Given the description of an element on the screen output the (x, y) to click on. 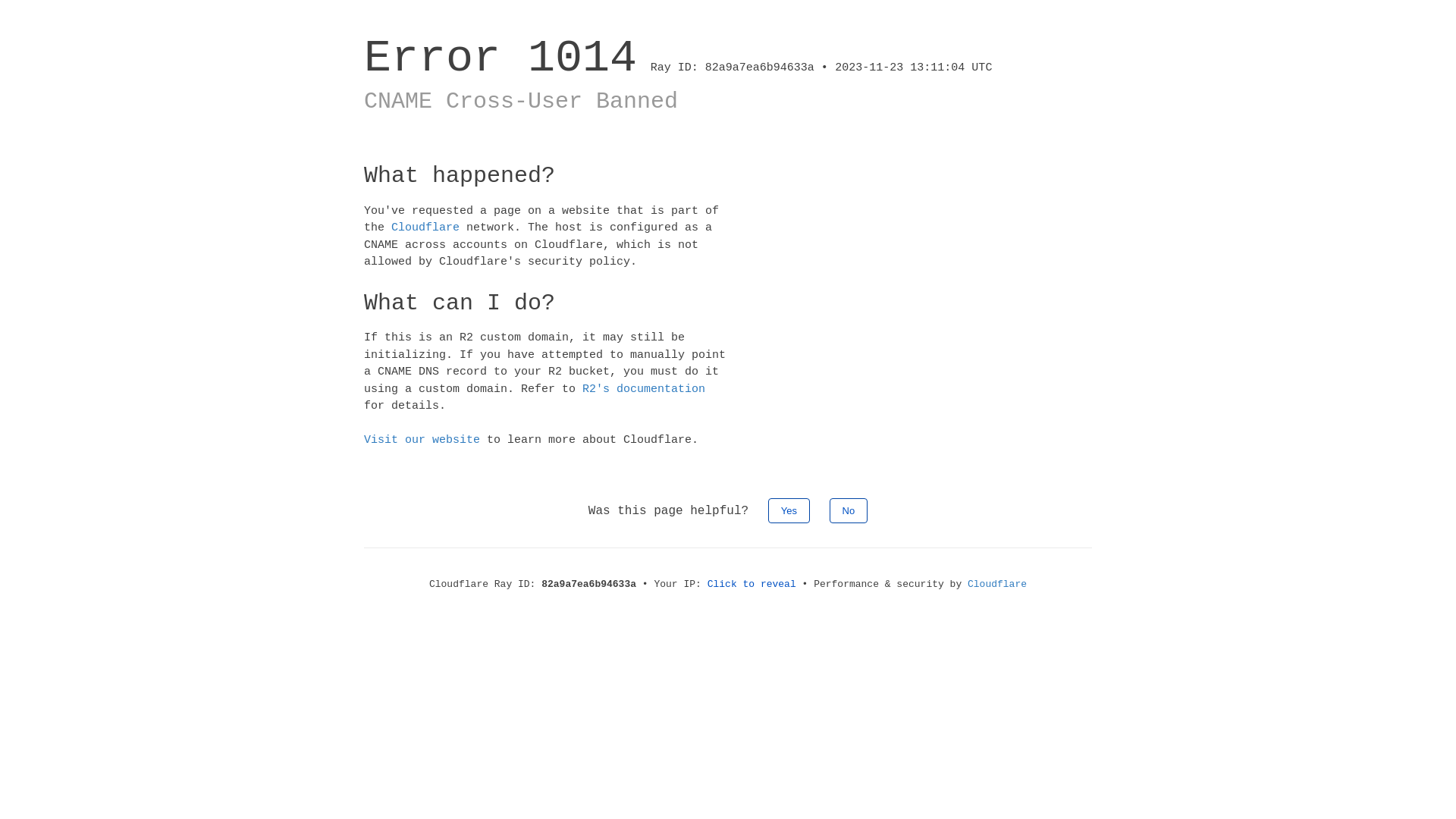
Yes Element type: text (788, 509)
Cloudflare Element type: text (425, 227)
Cloudflare Element type: text (996, 583)
Click to reveal Element type: text (751, 583)
Visit our website Element type: text (422, 439)
R2's documentation Element type: text (643, 388)
No Element type: text (848, 509)
